Given the description of an element on the screen output the (x, y) to click on. 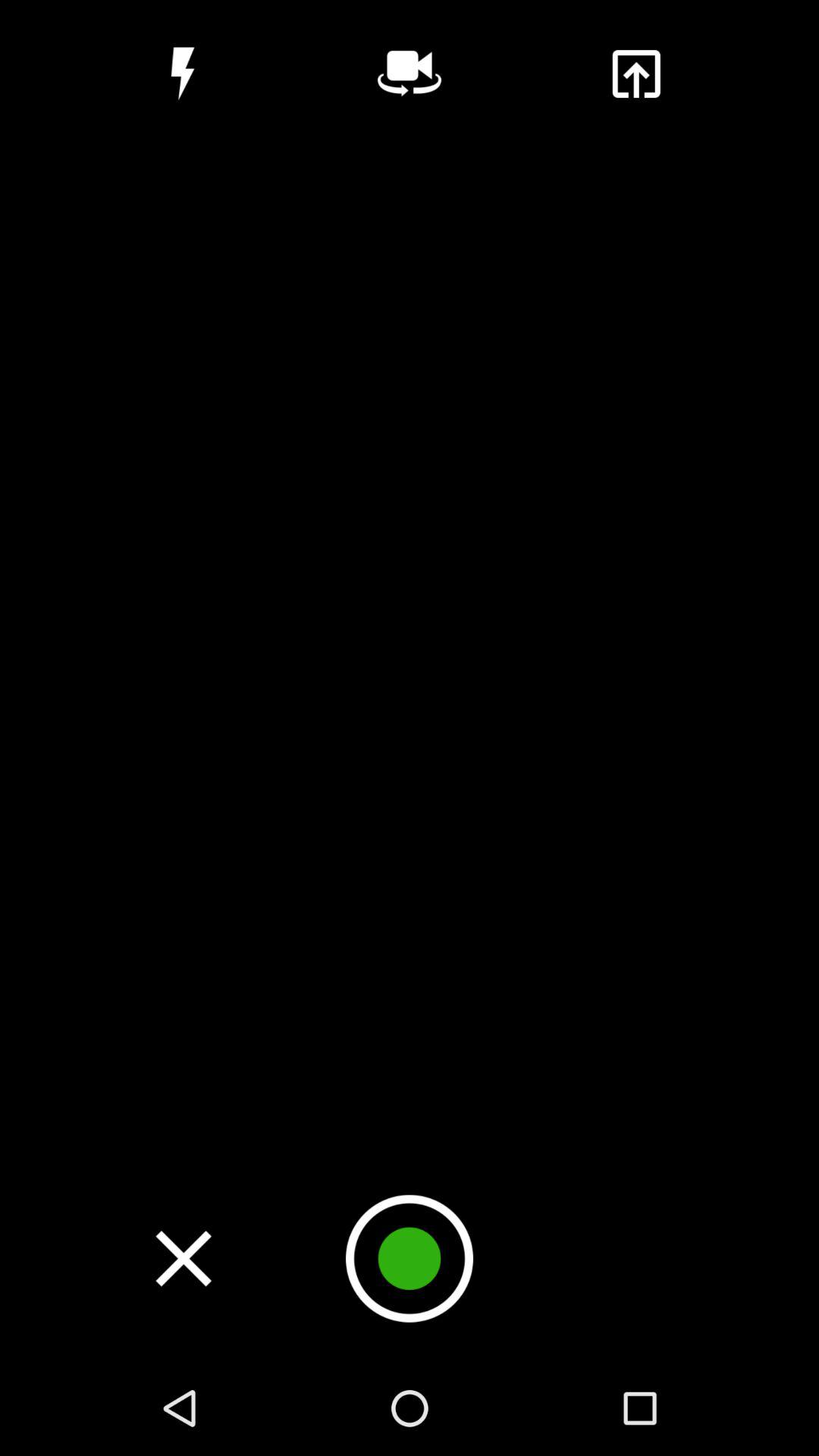
send file (635, 73)
